Given the description of an element on the screen output the (x, y) to click on. 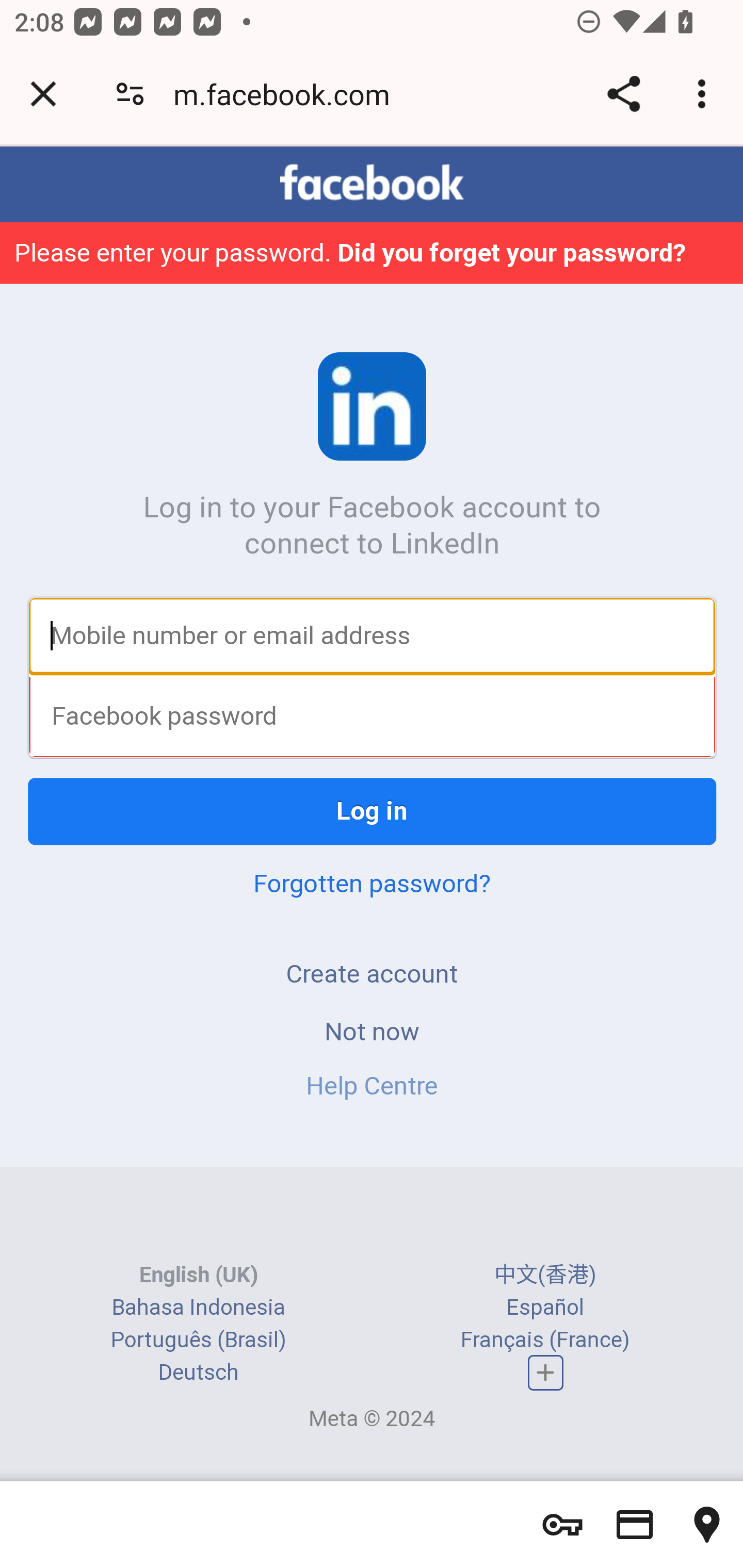
Close tab (43, 93)
Share (623, 93)
Customize and control Google Chrome (705, 93)
Connection is secure (129, 93)
m.facebook.com (288, 93)
facebook (371, 183)
Log in (372, 812)
Forgotten password? (371, 885)
Create account (371, 974)
Not now (371, 1032)
Help Centre (371, 1087)
中文(香港) (544, 1275)
Bahasa Indonesia (198, 1307)
Español (545, 1307)
Português (Brasil) (197, 1339)
Français (France) (544, 1339)
Complete list of languages (545, 1373)
Deutsch (197, 1373)
Show saved passwords and password options (562, 1524)
Show saved payment methods (634, 1524)
Show saved addresses (706, 1524)
